Given the description of an element on the screen output the (x, y) to click on. 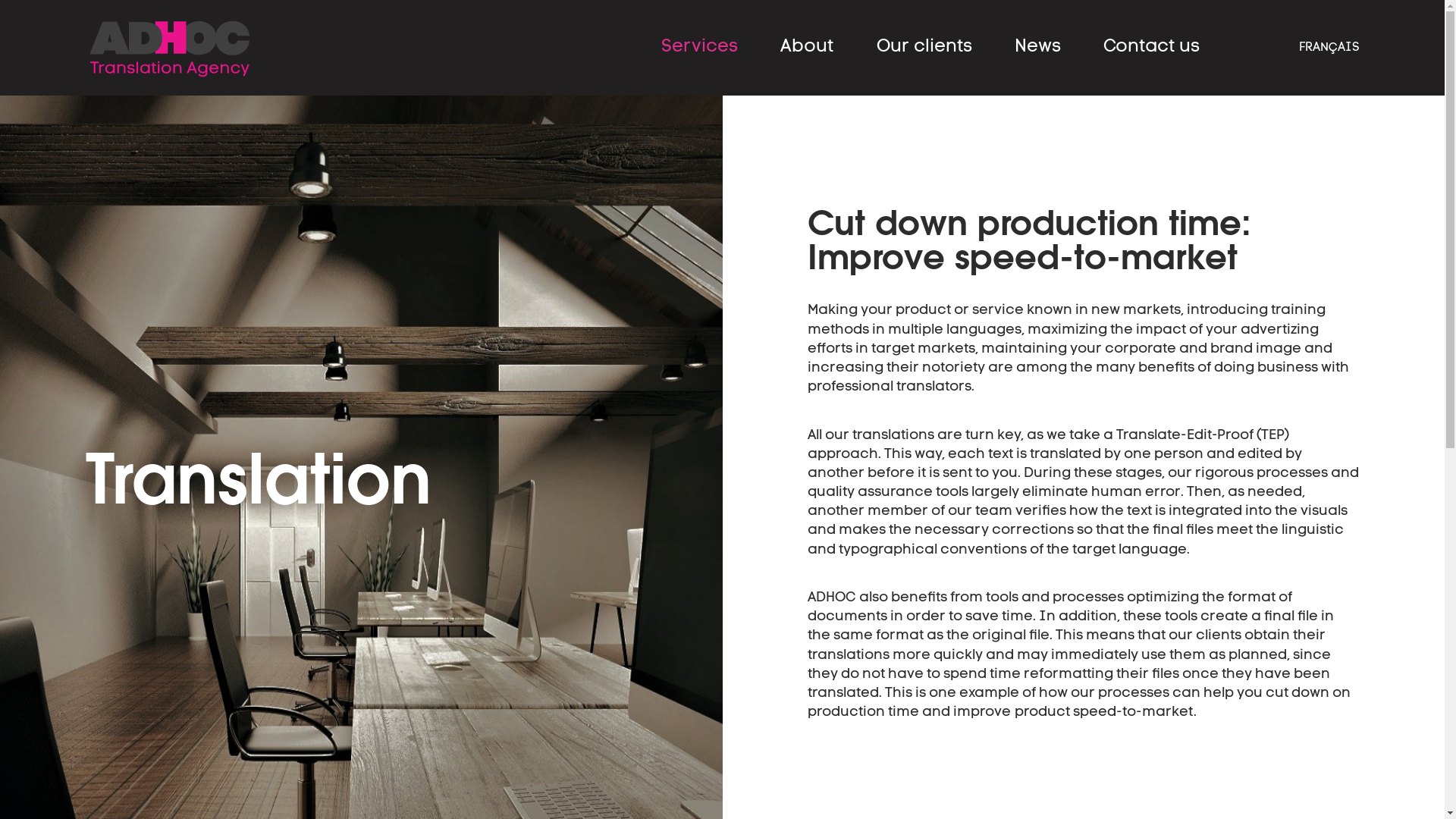
Services Element type: text (699, 57)
About Element type: text (806, 57)
Our clients Element type: text (924, 57)
News Element type: text (1037, 57)
Adhoc Element type: hover (169, 48)
Contact us Element type: text (1151, 57)
